Given the description of an element on the screen output the (x, y) to click on. 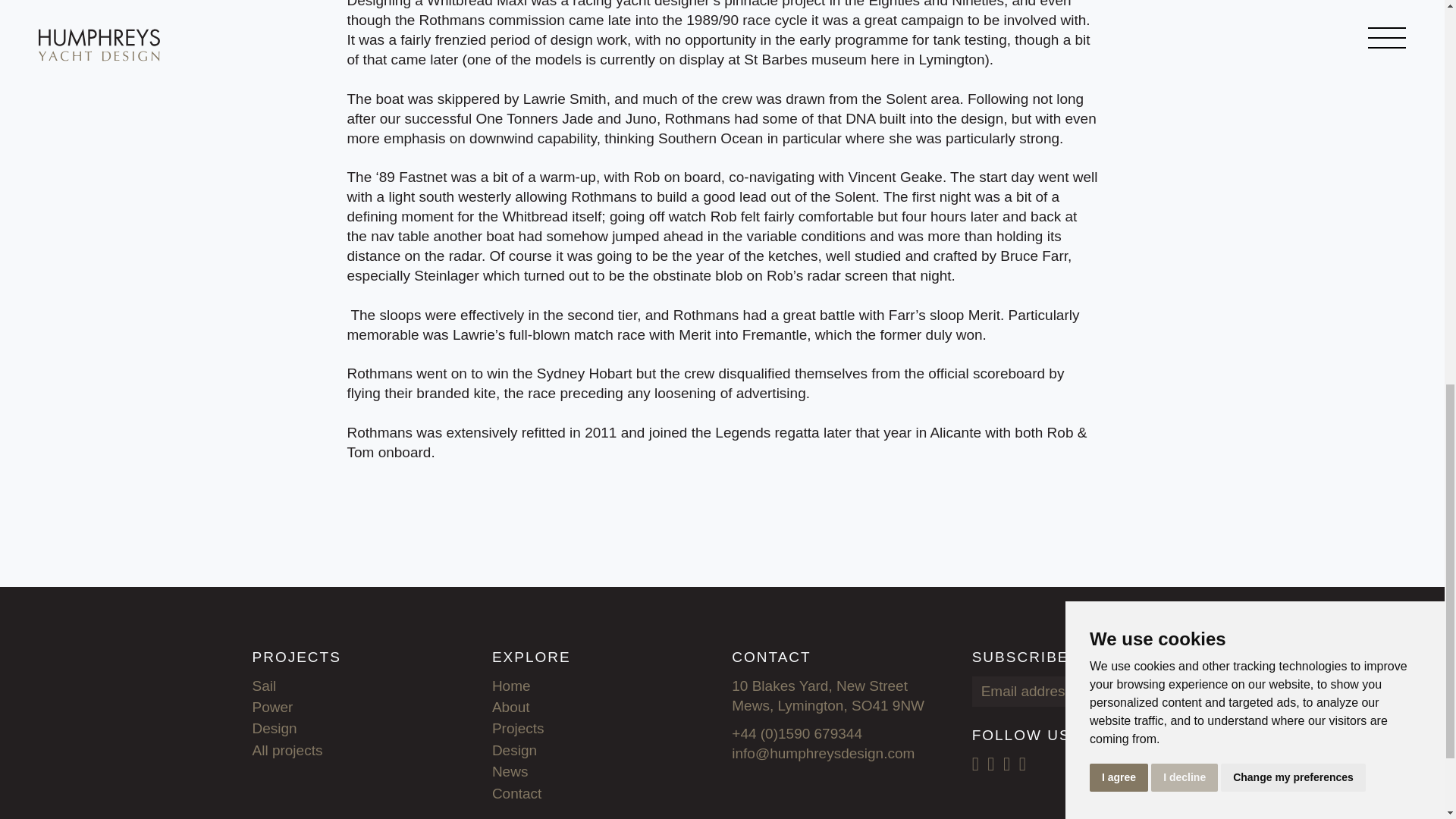
News (510, 771)
Home (511, 685)
About (510, 706)
Sail (263, 685)
Projects (518, 728)
Design (274, 728)
Contact (516, 793)
All projects (286, 750)
Power (271, 706)
Design (514, 750)
